Given the description of an element on the screen output the (x, y) to click on. 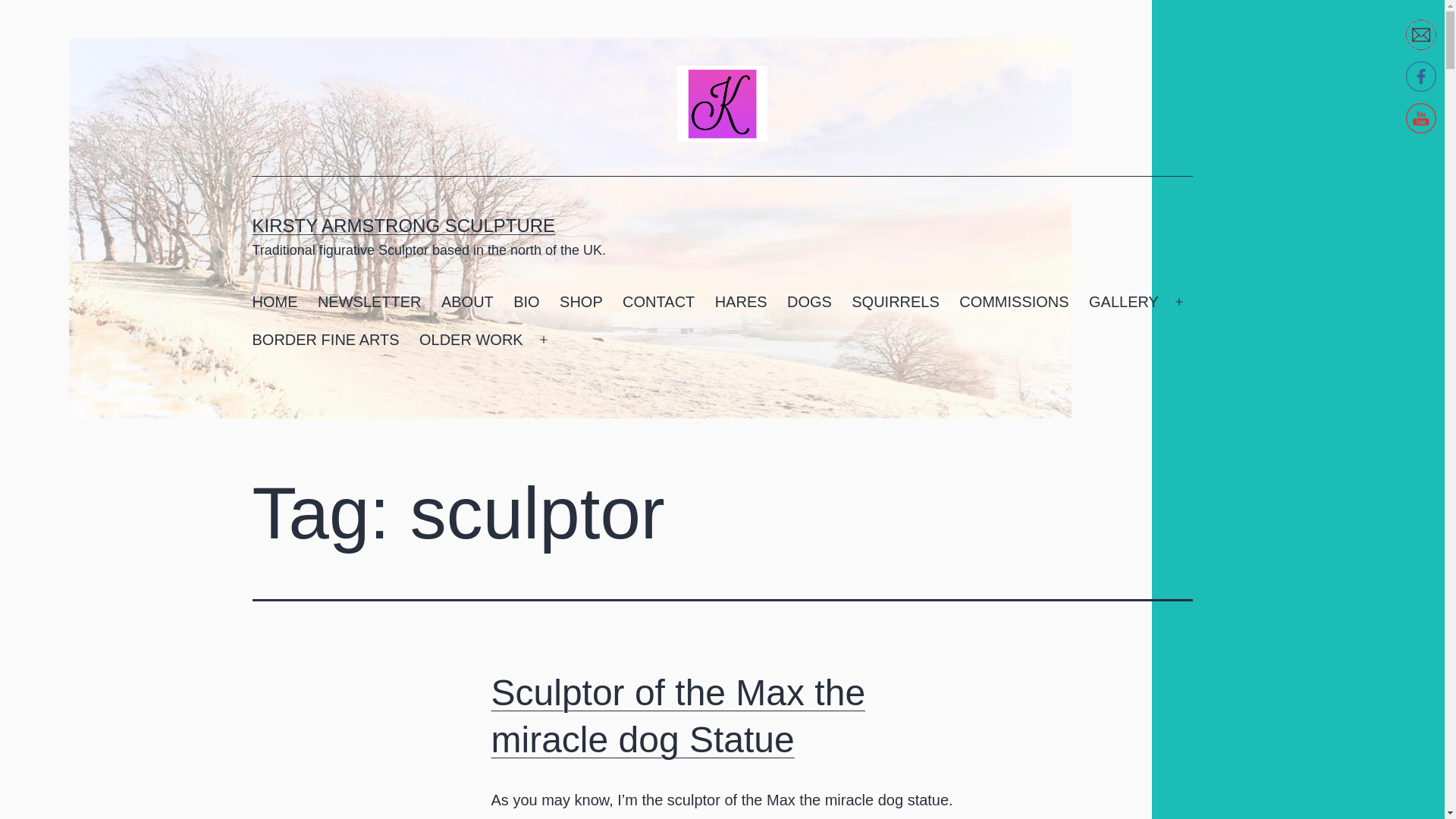
HARES (740, 301)
DOGS (809, 301)
HOME (274, 301)
Hare Sculpture by Kirsty Armstrong (740, 301)
BORDER FINE ARTS (325, 340)
GALLERY (1123, 301)
CONTACT (658, 301)
A gallery of work by Kirsty Armstrong Sculpture (1123, 301)
Red Squirrel Sculptures by Kirsty Armstrong (895, 301)
KIRSTY ARMSTRONG SCULPTURE (402, 225)
Kirsty Armstrong Biography (526, 301)
SHOP (581, 301)
Gallery of work from 1986 -1995 (470, 340)
About Kirsty Armstrong Sculpture (466, 301)
ABOUT (466, 301)
